Given the description of an element on the screen output the (x, y) to click on. 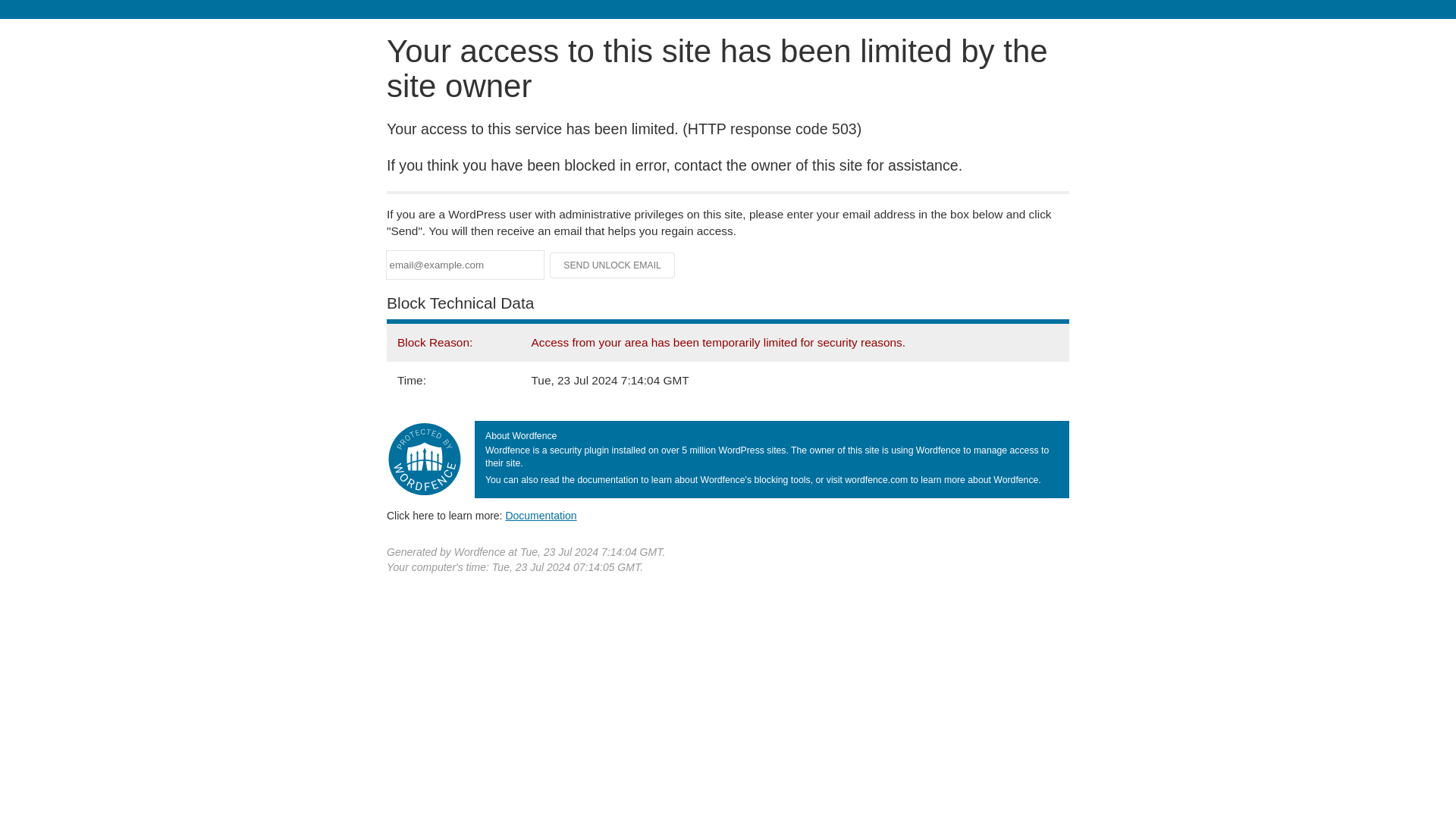
Send Unlock Email (612, 265)
Send Unlock Email (612, 265)
Documentation (540, 515)
